Given the description of an element on the screen output the (x, y) to click on. 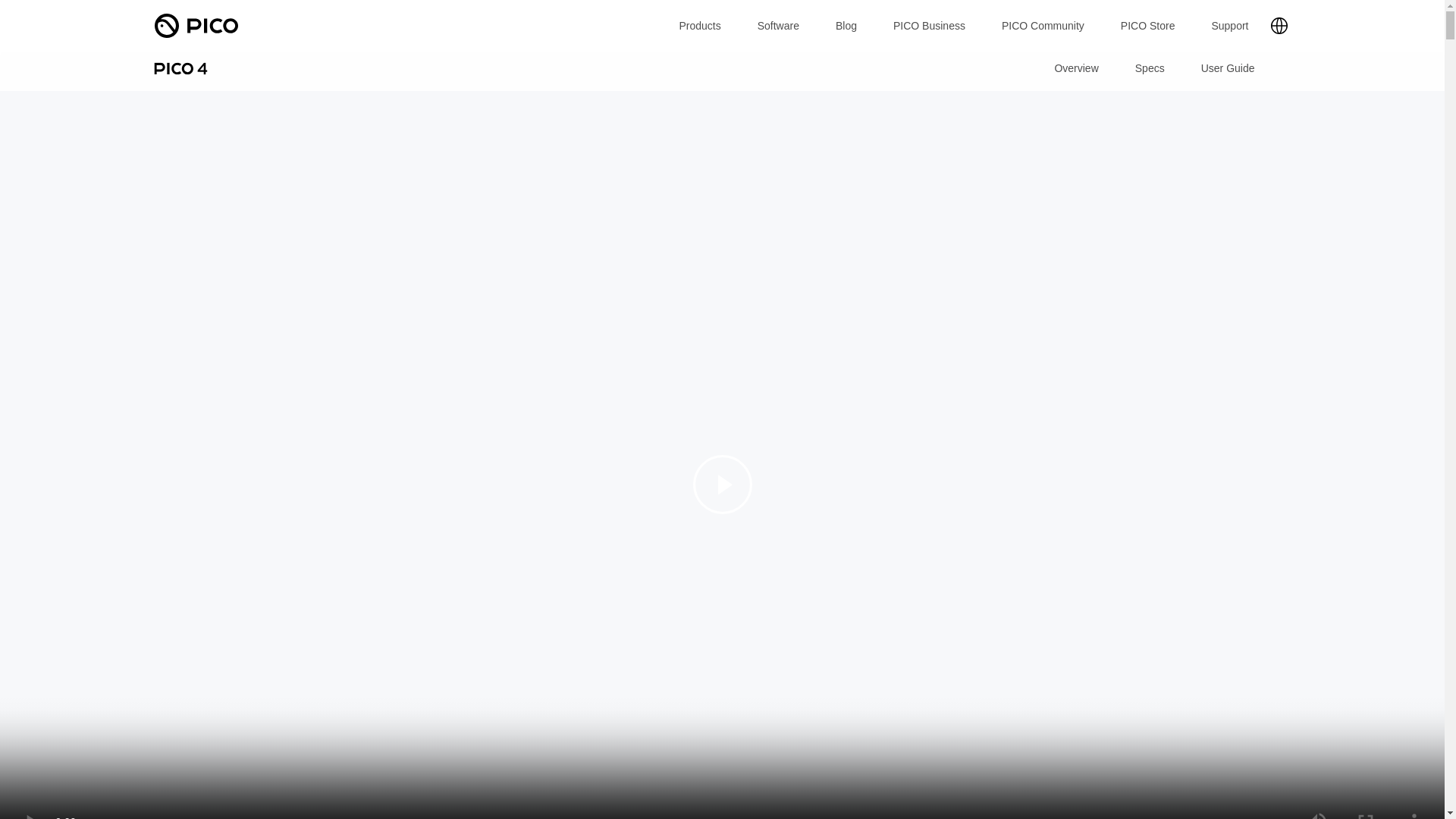
pdf (1228, 68)
PICO Community (1042, 25)
PICO Store (1147, 25)
Support (1229, 25)
Blog (846, 25)
PICO Business (929, 25)
